Given the description of an element on the screen output the (x, y) to click on. 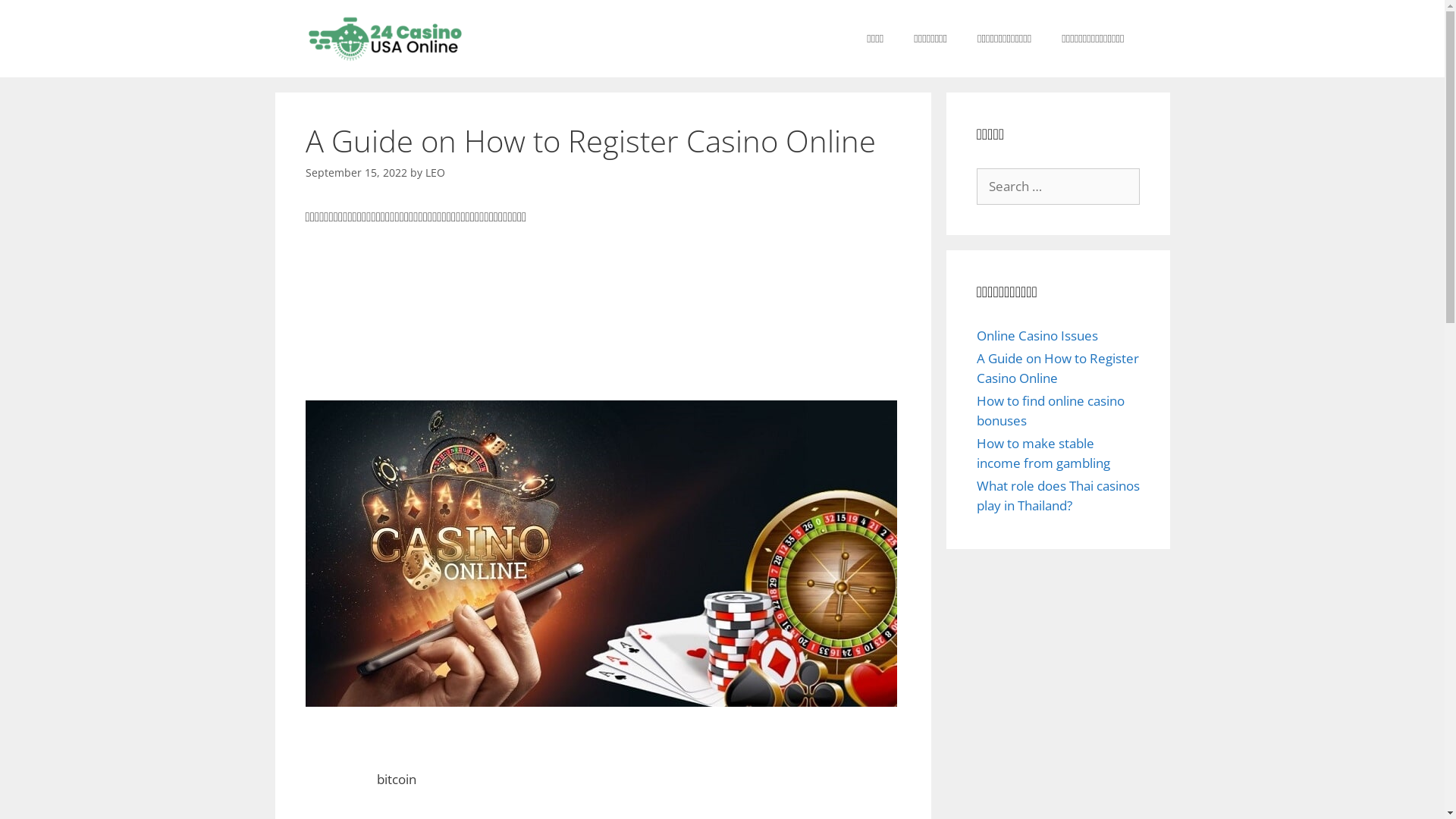
24 Casino USA Online Element type: hover (384, 37)
Search for: Element type: hover (1057, 186)
What role does Thai casinos play in Thailand? Element type: text (1057, 495)
How to make stable income from gambling Element type: text (1043, 452)
How to find online casino bonuses Element type: text (1050, 410)
Online Casino Issues Element type: text (1037, 335)
24 Casino USA Online Element type: hover (384, 38)
LEO Element type: text (434, 172)
A Guide on How to Register Casino Online Element type: text (1057, 367)
Search Element type: text (36, 18)
